Given the description of an element on the screen output the (x, y) to click on. 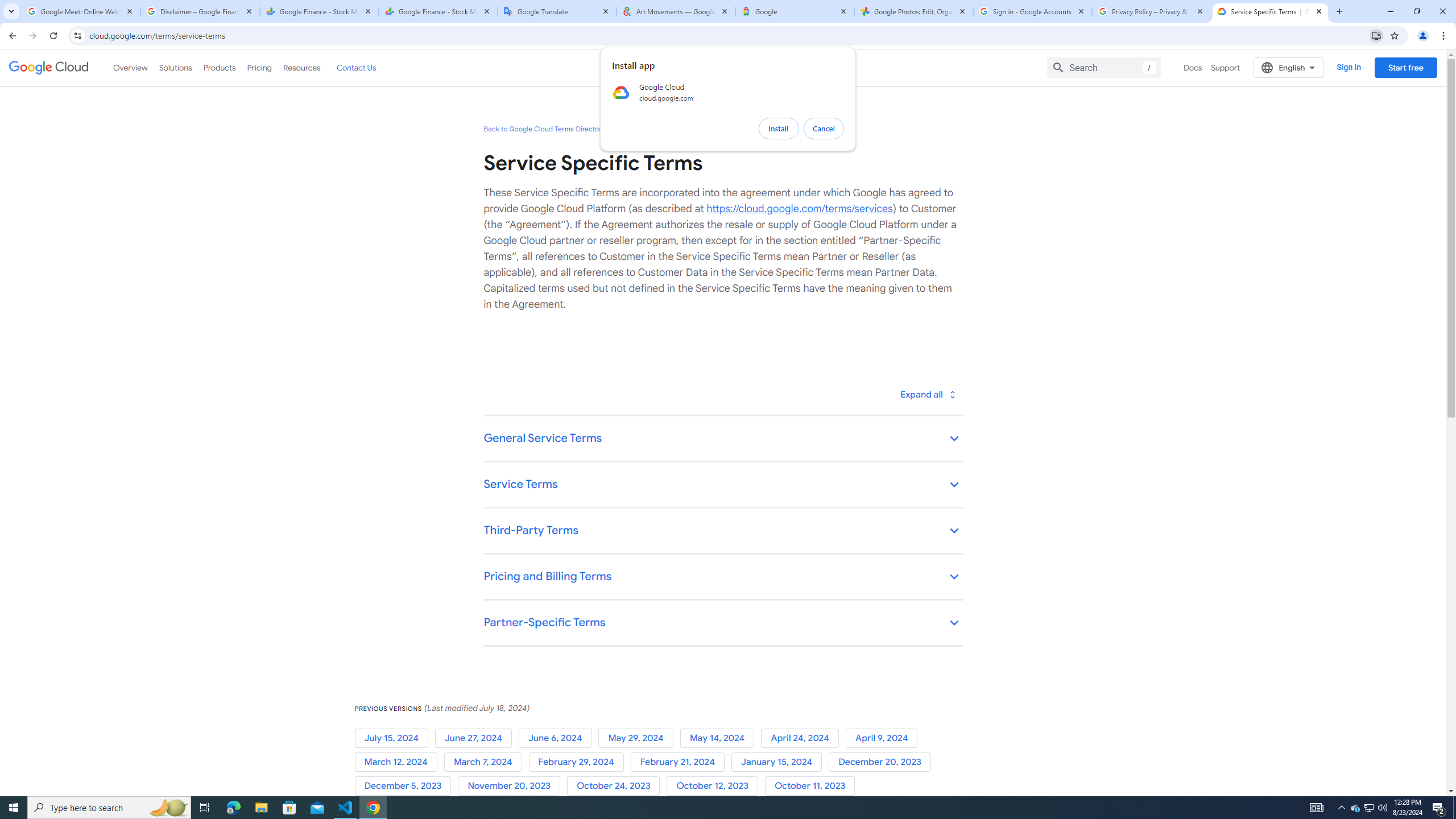
Toggle all (927, 393)
Support (1225, 67)
English (1288, 67)
July 15, 2024 (394, 737)
May 14, 2024 (720, 737)
Sign in - Google Accounts (1032, 11)
October 24, 2023 (616, 786)
April 9, 2024 (883, 737)
February 21, 2024 (680, 761)
General Service Terms keyboard_arrow_down (722, 439)
November 20, 2023 (511, 786)
Partner-Specific Terms keyboard_arrow_down (722, 623)
